Given the description of an element on the screen output the (x, y) to click on. 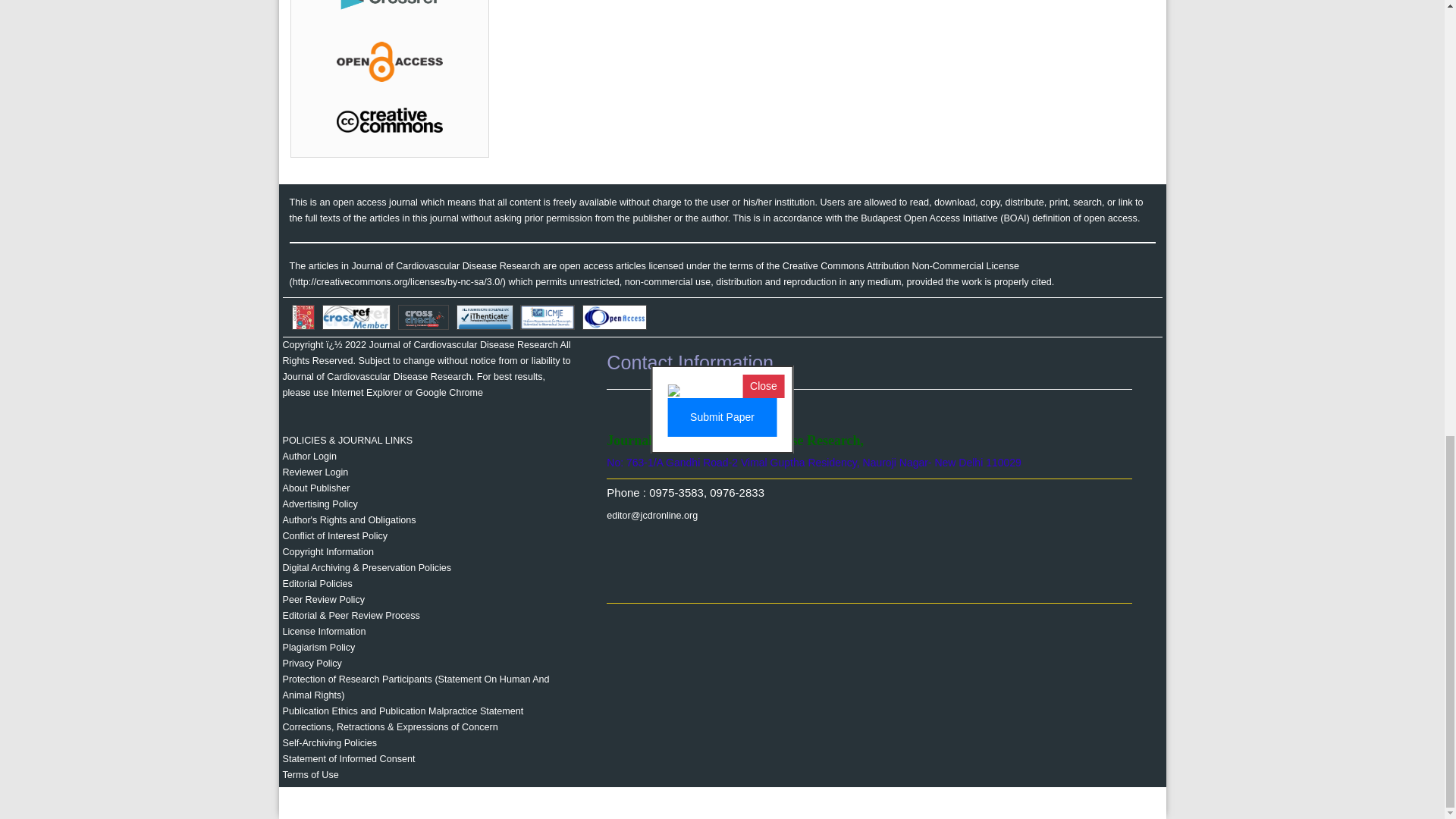
Plagiarism Policy (318, 647)
Copyright Information (327, 552)
About Publisher (315, 488)
Conflict of Interest Policy (334, 535)
Editorial Policies (317, 583)
License Information (323, 631)
Author Login (309, 456)
Peer Review Policy (323, 599)
Advertising Policy (319, 503)
Reviewer Login (314, 471)
Author's Rights and Obligations (348, 520)
